Given the description of an element on the screen output the (x, y) to click on. 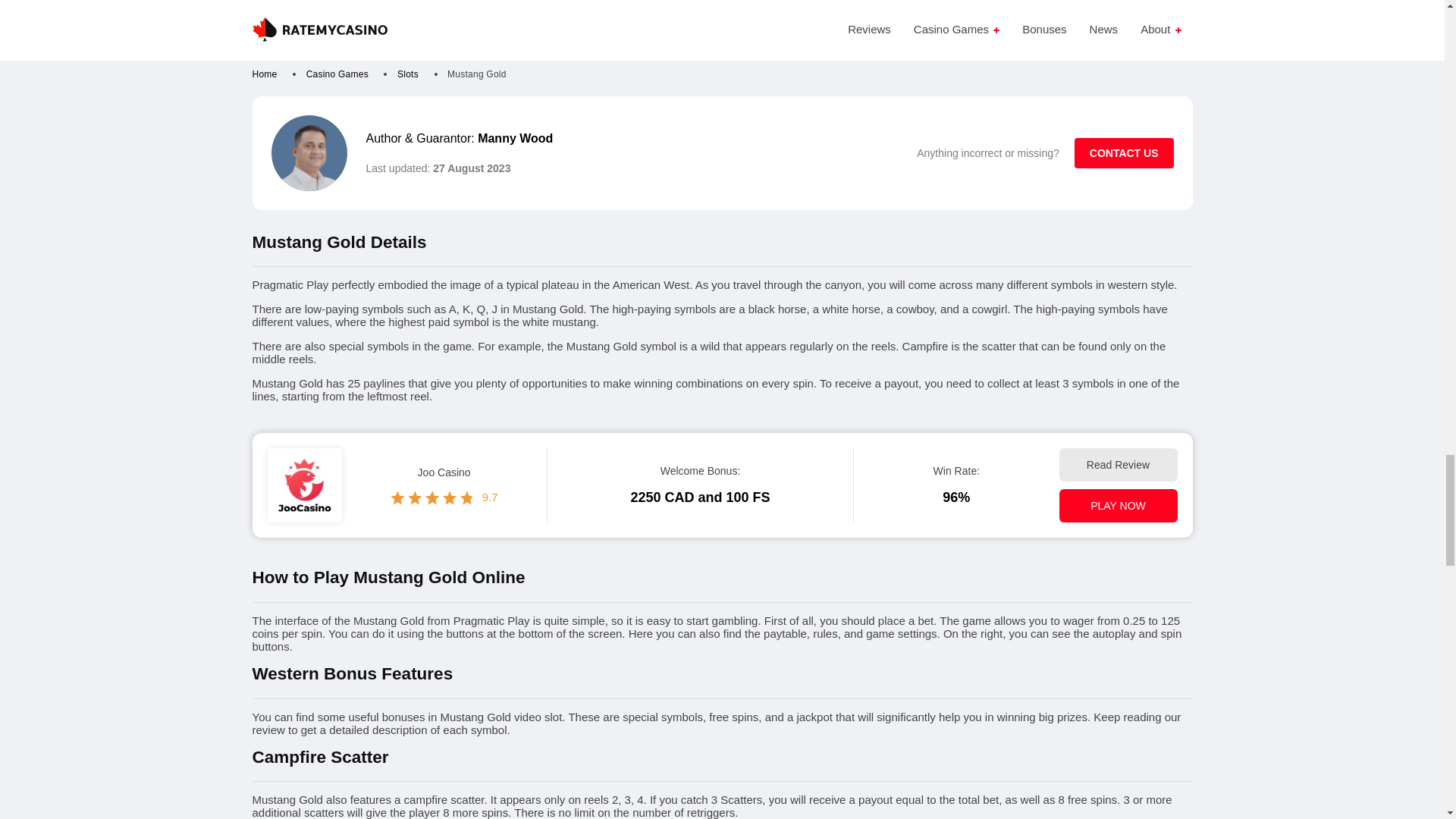
PLAY NOW (1117, 505)
Read Review (1117, 464)
Manny Wood (515, 137)
CONTACT US (1123, 153)
